Given the description of an element on the screen output the (x, y) to click on. 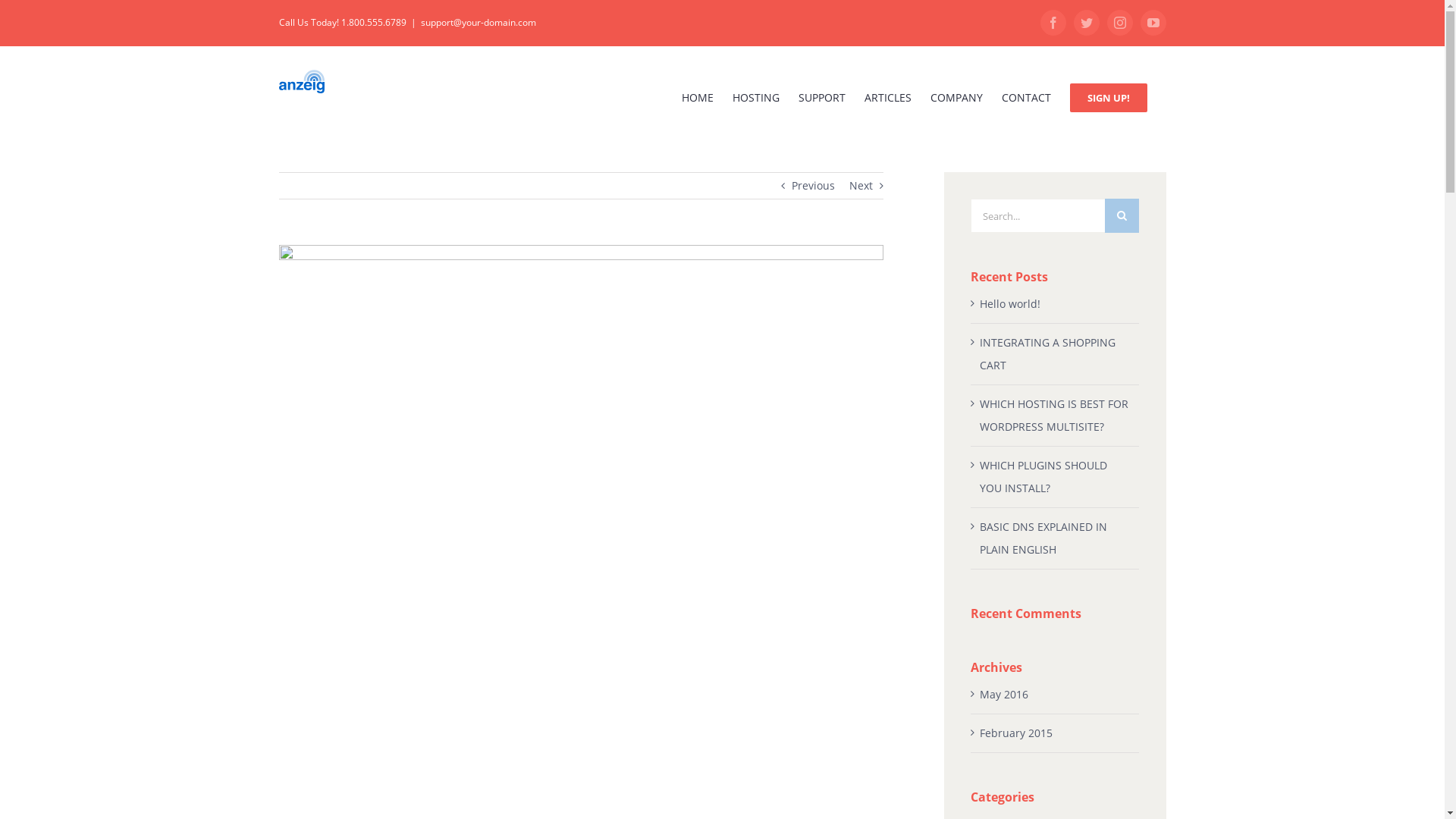
Next Element type: text (860, 185)
ARTICLES Element type: text (887, 97)
INTEGRATING A SHOPPING CART Element type: text (1047, 353)
Instagram Element type: text (1119, 22)
WHICH HOSTING IS BEST FOR WORDPRESS MULTISITE? Element type: text (1053, 414)
HOSTING Element type: text (755, 97)
Twitter Element type: text (1086, 22)
Twitter Element type: text (1078, 784)
Theme Fusion Element type: text (486, 783)
Facebook Element type: text (1042, 784)
WHICH PLUGINS SHOULD YOU INSTALL? Element type: text (1043, 476)
BASIC DNS EXPLAINED IN PLAIN ENGLISH Element type: text (1043, 537)
YouTube Element type: text (1151, 784)
Instagram Element type: text (1115, 784)
CONTACT Element type: text (1025, 97)
February 2015 Element type: text (1015, 732)
Facebook Element type: text (1053, 22)
May 2016 Element type: text (1003, 694)
1.800.555.6789 Element type: text (809, 672)
support@theme-fusion.com Element type: text (838, 694)
WordPress Element type: text (724, 783)
YouTube Element type: text (1153, 22)
Hello world! Element type: text (1009, 303)
Previous Element type: text (812, 185)
COMPANY Element type: text (955, 97)
HOME Element type: text (696, 97)
SUPPORT Element type: text (820, 97)
support@your-domain.com Element type: text (477, 21)
SIGN UP! Element type: text (1107, 97)
